Given the description of an element on the screen output the (x, y) to click on. 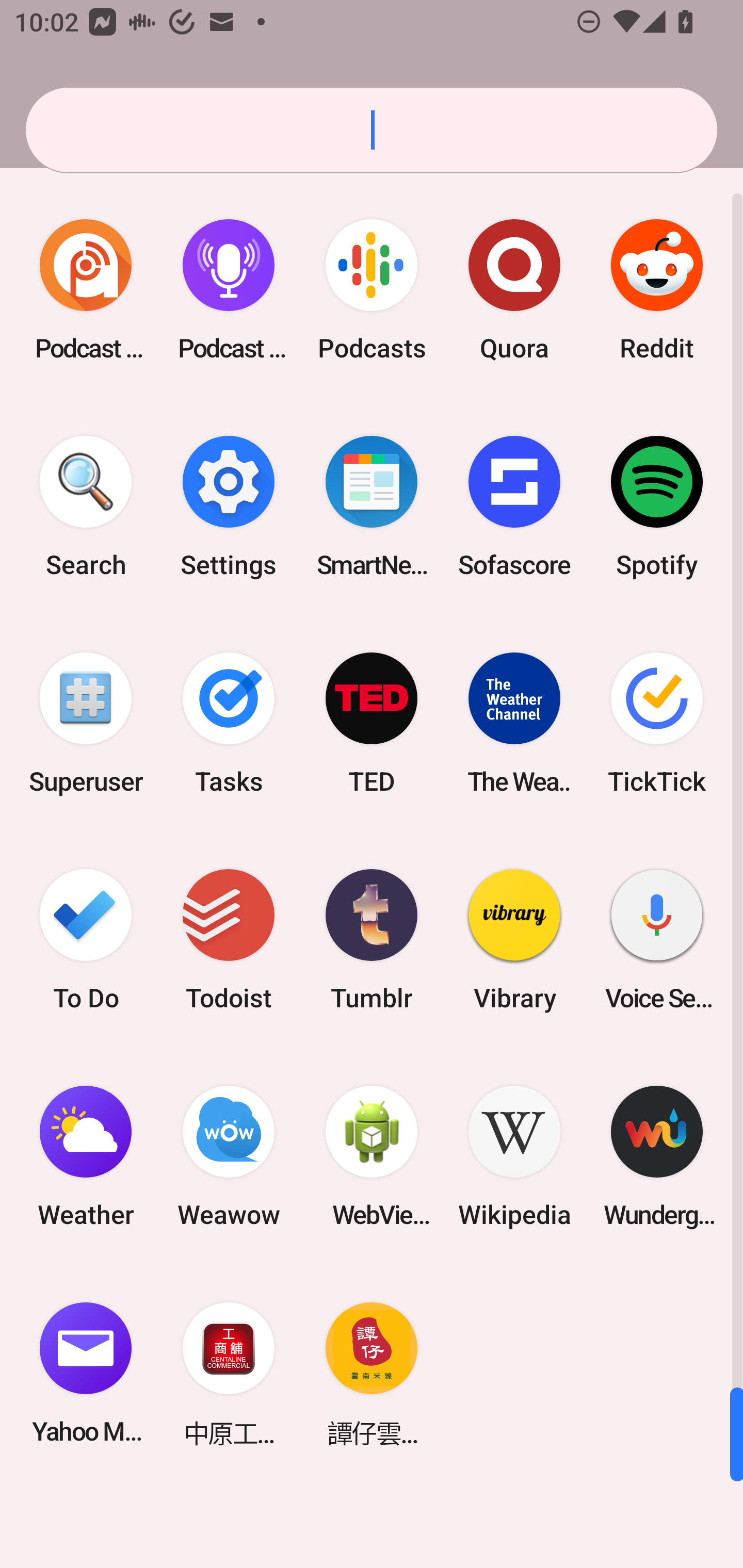
  Search apps (371, 130)
Podcast Addict (85, 289)
Podcast Player (228, 289)
Podcasts (371, 289)
Quora (514, 289)
Reddit (656, 289)
Search (85, 506)
Settings (228, 506)
SmartNews (371, 506)
Sofascore (514, 506)
Spotify (656, 506)
Superuser (85, 722)
Tasks (228, 722)
TED (371, 722)
The Weather Channel (514, 722)
TickTick (656, 722)
To Do (85, 939)
Todoist (228, 939)
Tumblr (371, 939)
Vibrary (514, 939)
Voice Search (656, 939)
Weather (85, 1156)
Weawow (228, 1156)
WebView Browser Tester (371, 1156)
Wikipedia (514, 1156)
Wunderground (656, 1156)
Yahoo Mail (85, 1373)
中原工商舖 (228, 1373)
譚仔雲南米線 (371, 1373)
